Given the description of an element on the screen output the (x, y) to click on. 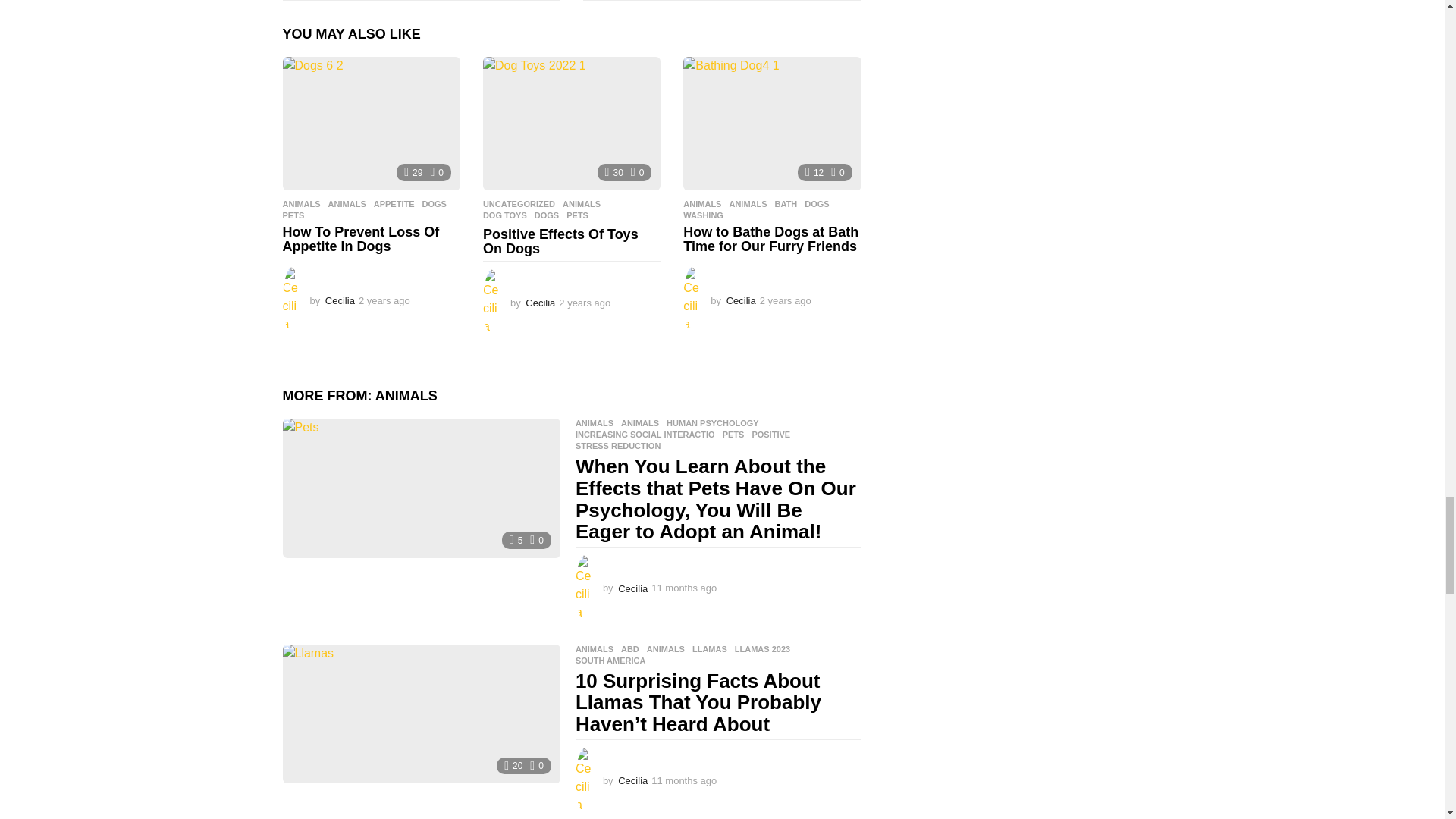
How To Prevent Loss Of Appetite In Dogs (371, 123)
How to Bathe Dogs at Bath Time for Our Furry Friends (771, 123)
Positive Effects Of Toys On Dogs (572, 123)
